Given the description of an element on the screen output the (x, y) to click on. 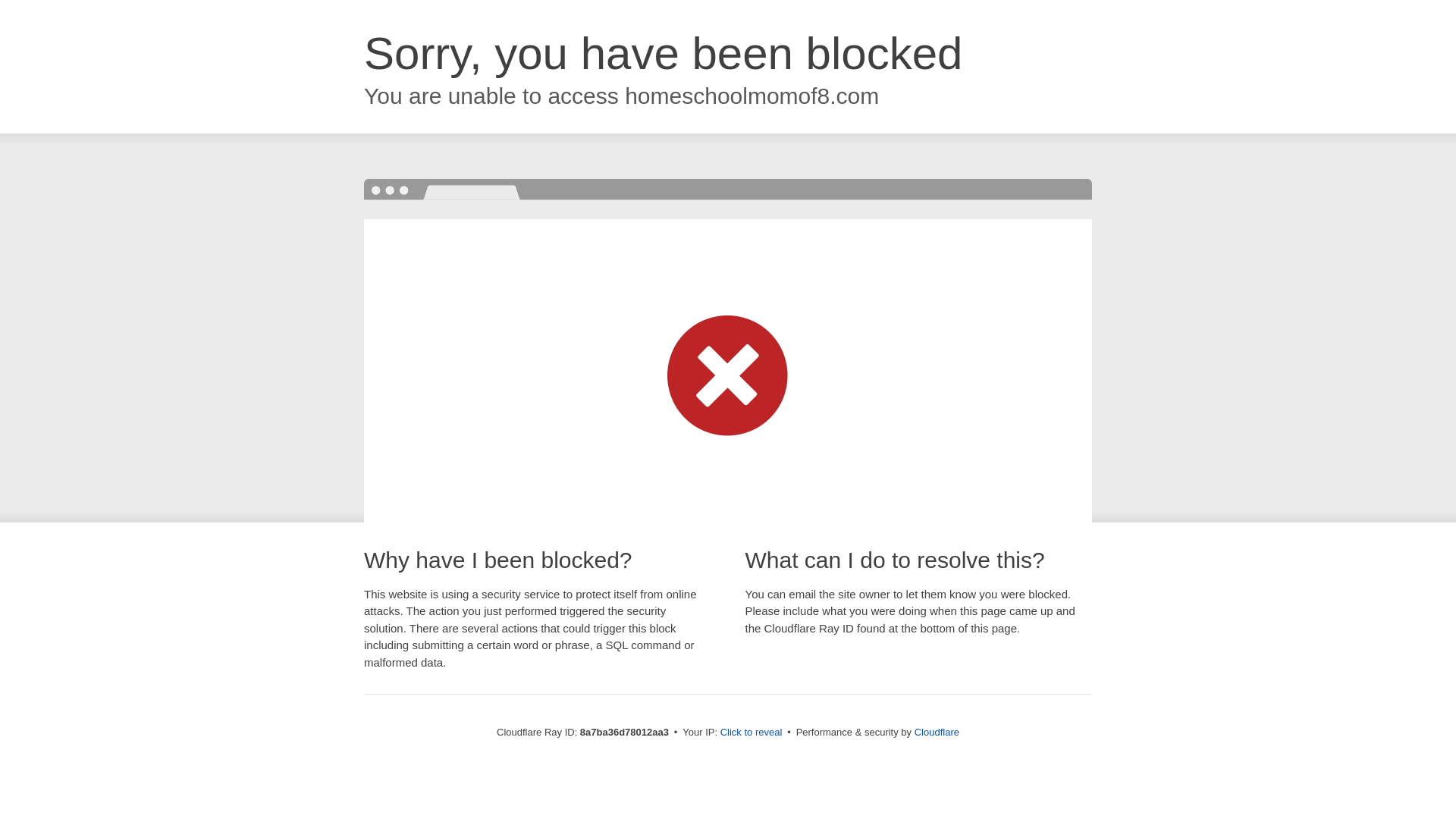
Click to reveal (751, 732)
Cloudflare (936, 731)
